Given the description of an element on the screen output the (x, y) to click on. 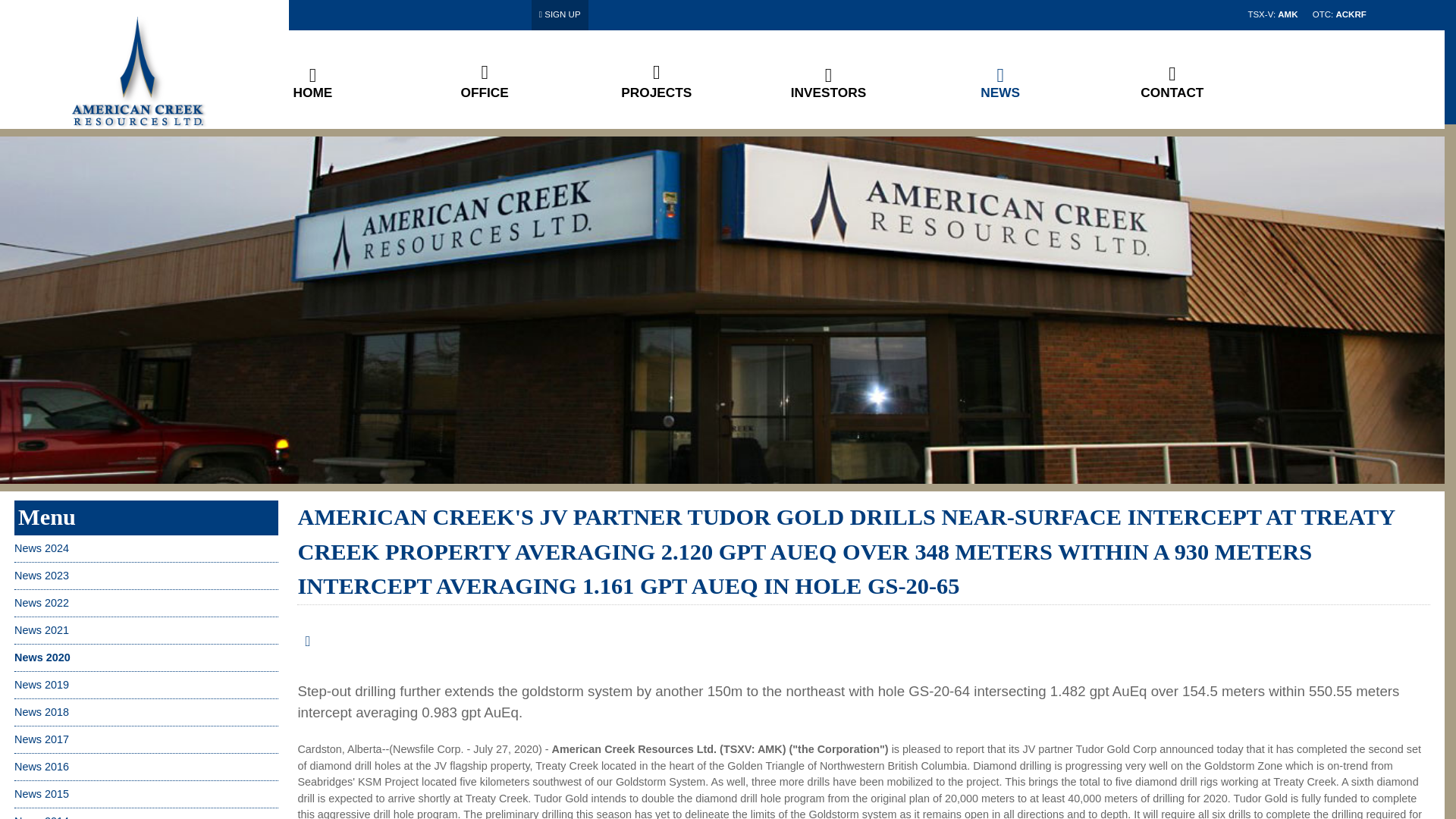
OFFICE (484, 92)
PROJECTS (656, 92)
SIGN UP (559, 13)
NEWS (1000, 92)
HOME (312, 92)
Gantry 5 (139, 64)
INVESTORS (828, 92)
